Given the description of an element on the screen output the (x, y) to click on. 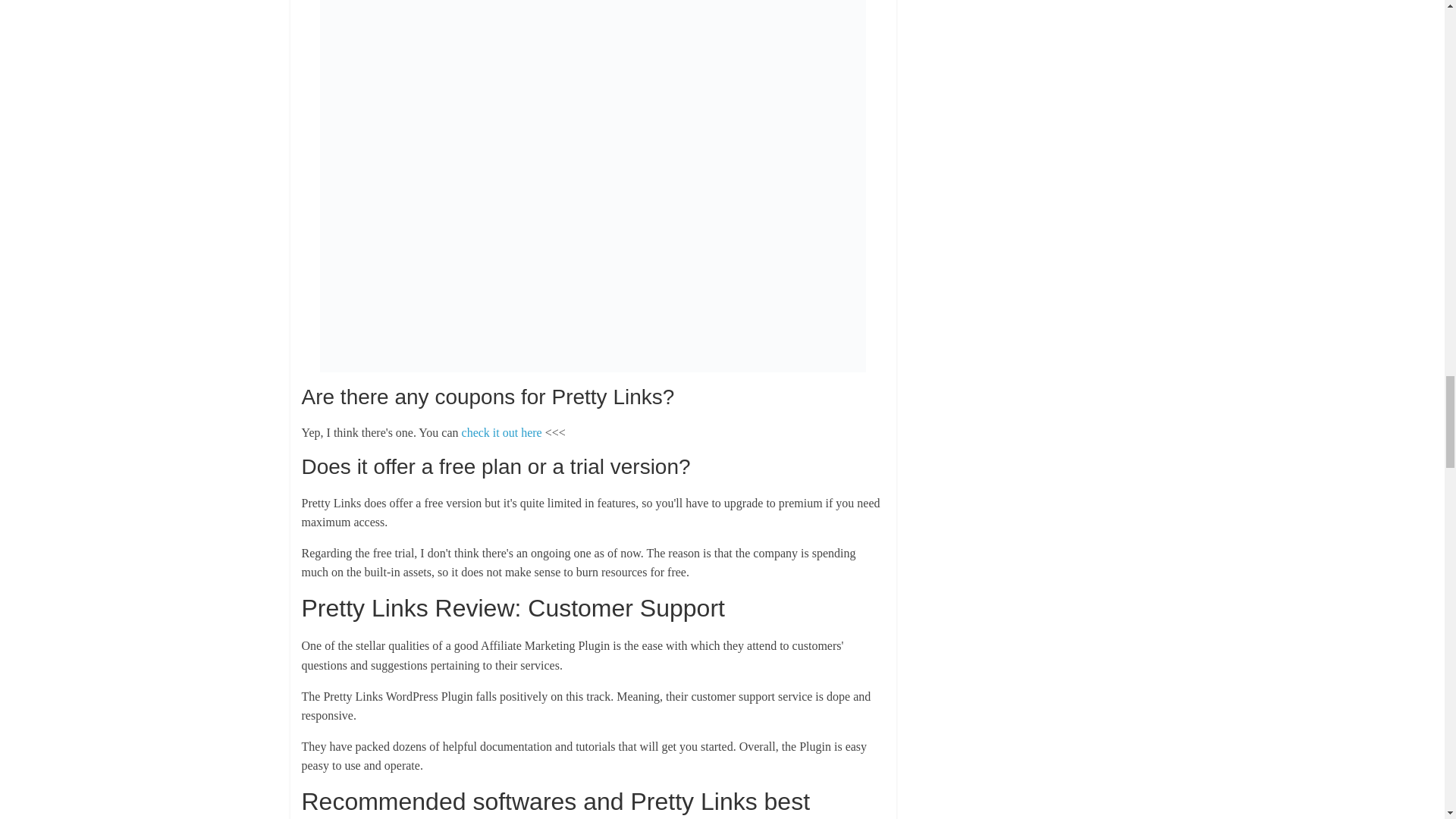
check it out here (501, 431)
